Given the description of an element on the screen output the (x, y) to click on. 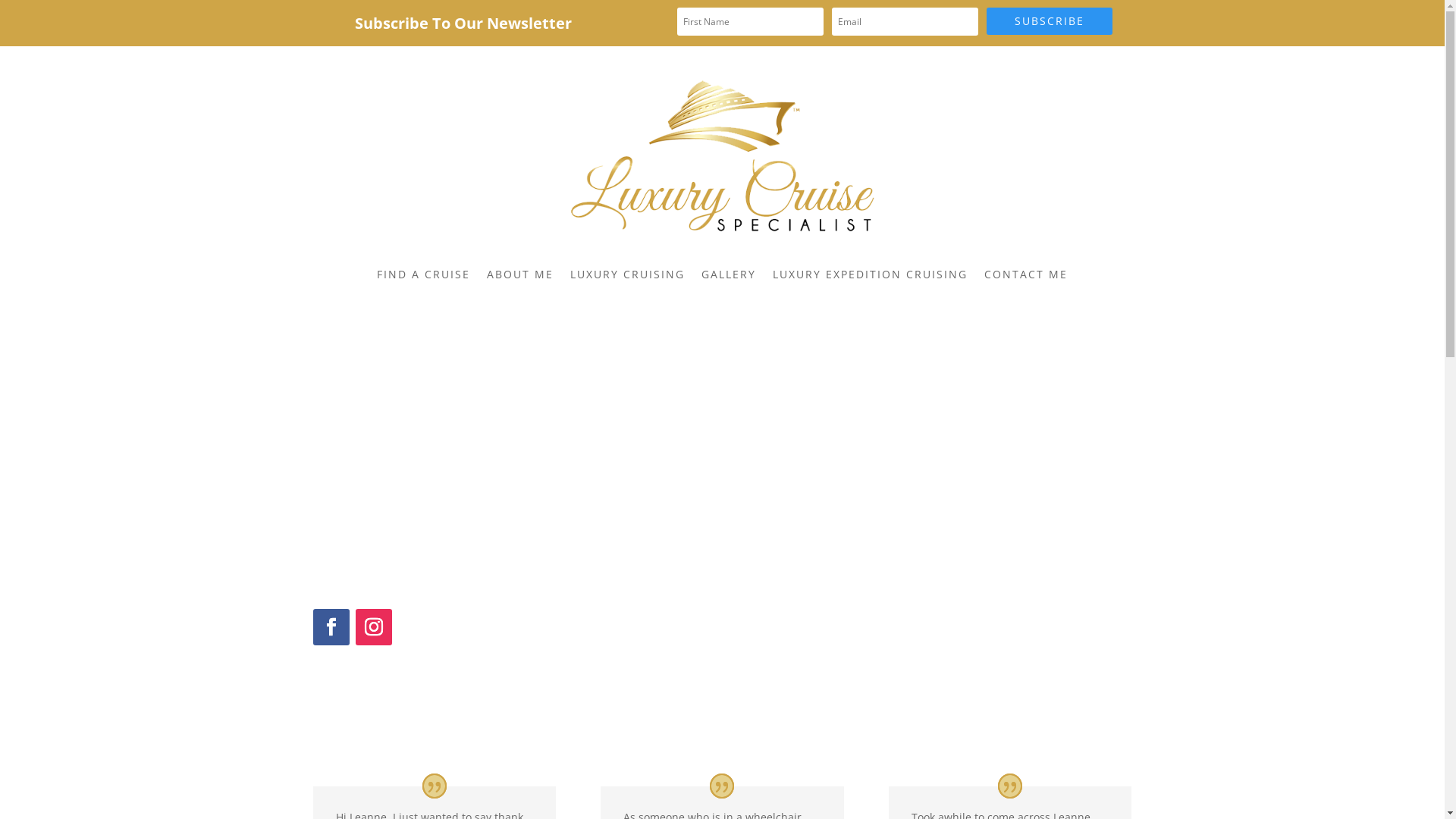
FIND A CRUISE Element type: text (423, 274)
Follow on Facebook Element type: hover (330, 626)
LUXURY CRUISING Element type: text (627, 274)
CONTACT ME Element type: text (1025, 274)
GALLERY Element type: text (728, 274)
LUXURY EXPEDITION CRUISING Element type: text (869, 274)
ABOUT ME Element type: text (519, 274)
SUBSCRIBE Element type: text (1049, 20)
Follow on Instagram Element type: hover (372, 626)
